Given the description of an element on the screen output the (x, y) to click on. 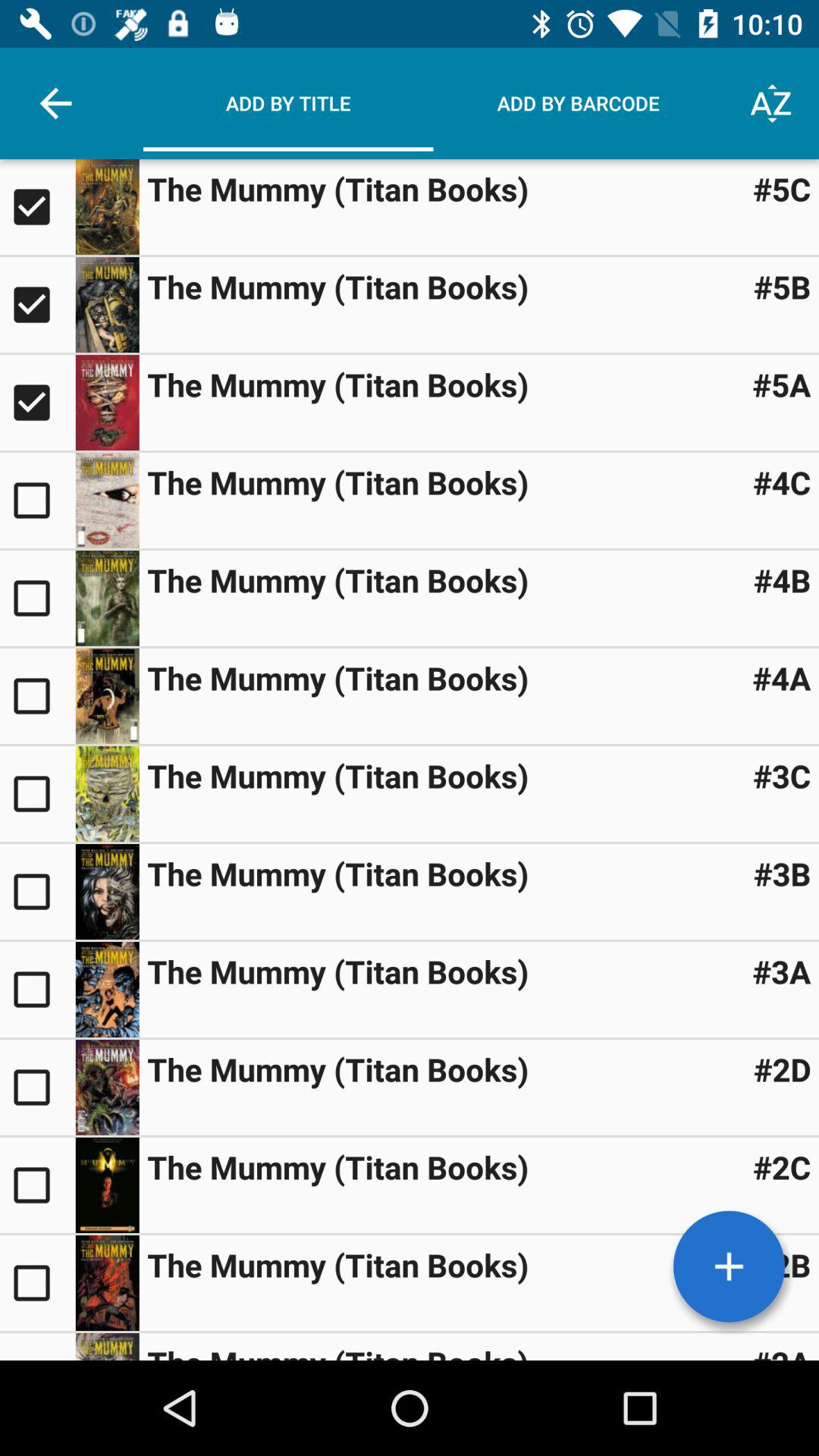
select button (37, 891)
